Given the description of an element on the screen output the (x, y) to click on. 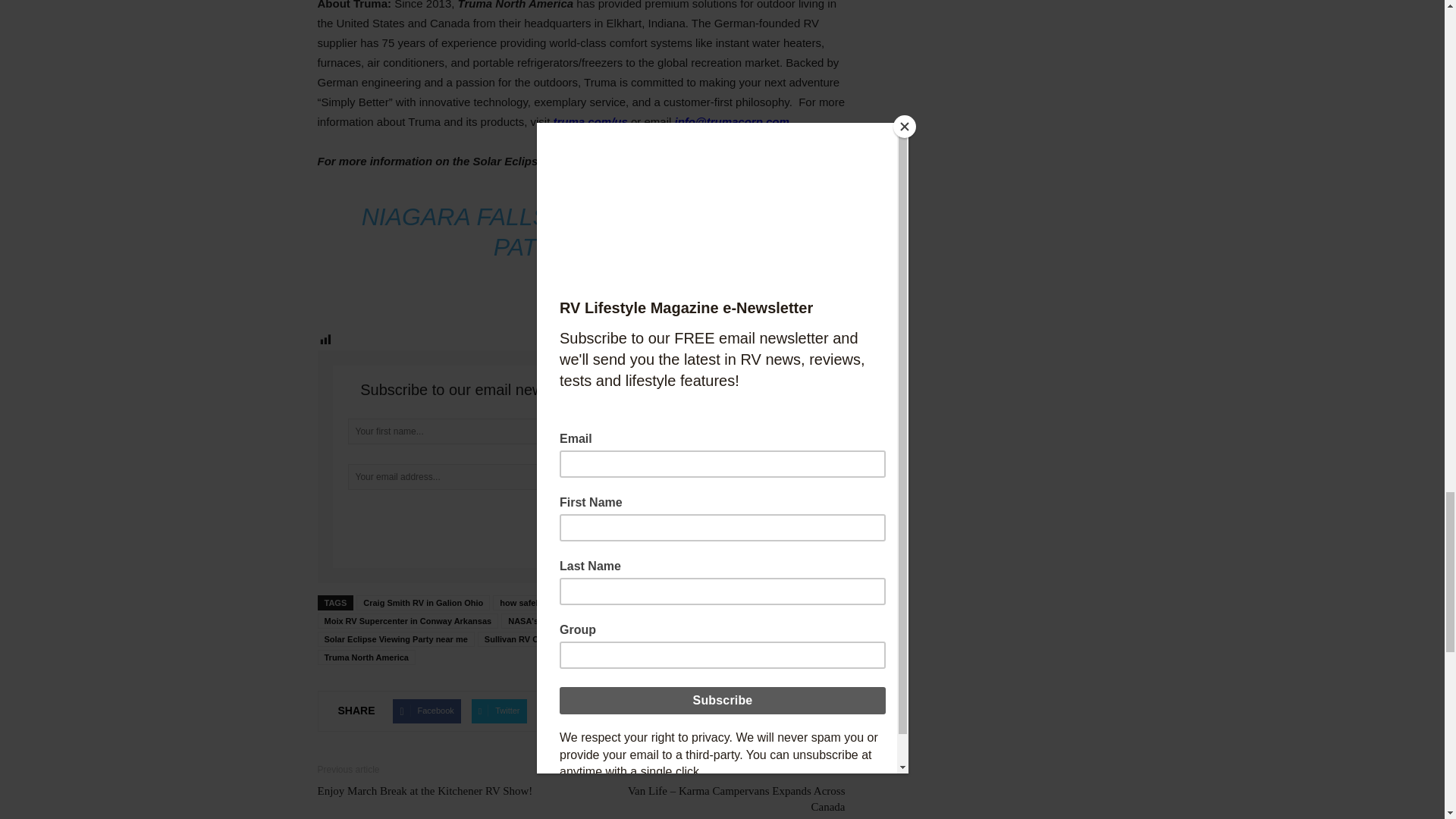
Subscribe (581, 521)
